Given the description of an element on the screen output the (x, y) to click on. 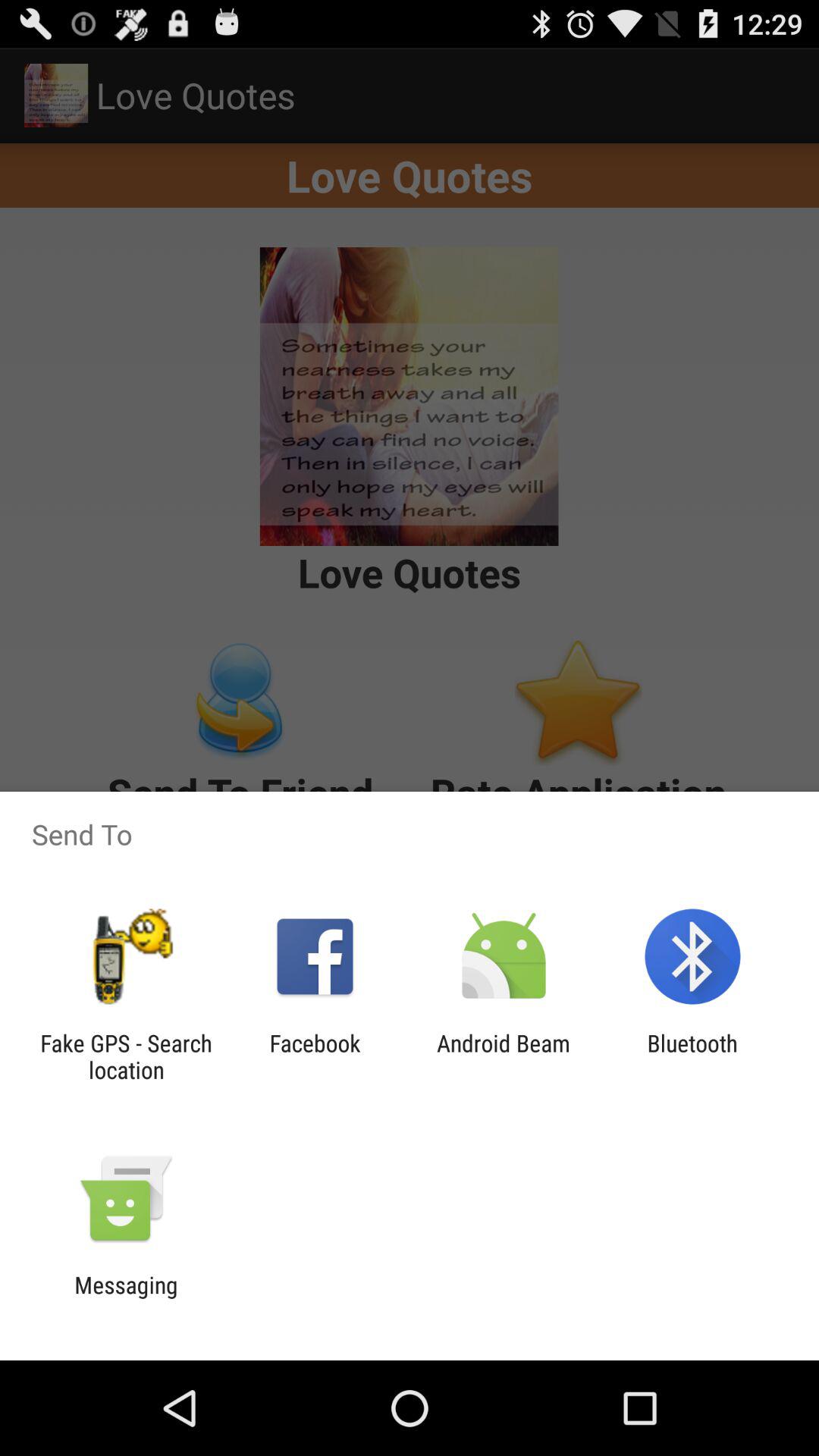
launch item to the left of the bluetooth item (503, 1056)
